Given the description of an element on the screen output the (x, y) to click on. 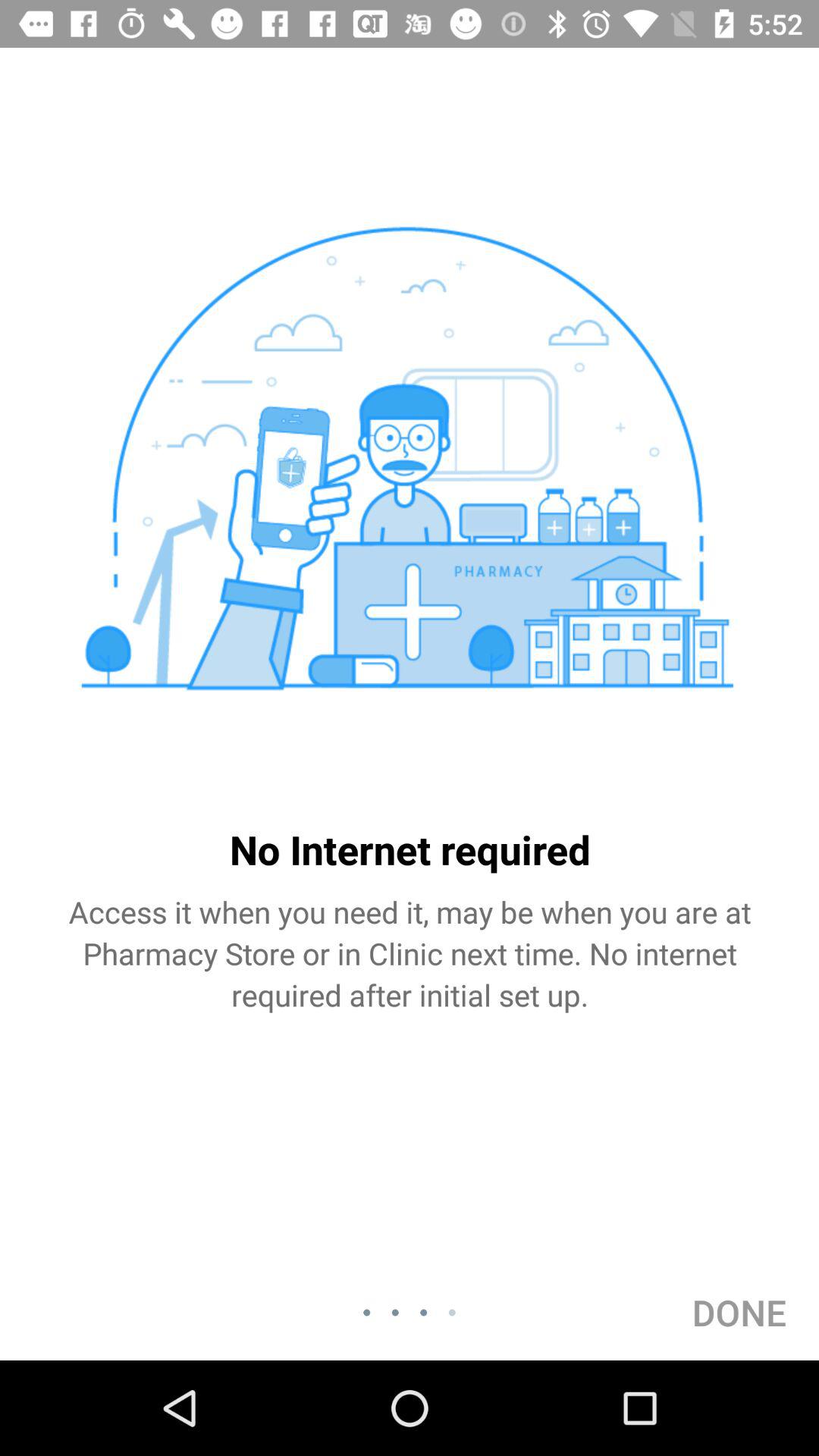
tap item at the bottom right corner (739, 1312)
